Given the description of an element on the screen output the (x, y) to click on. 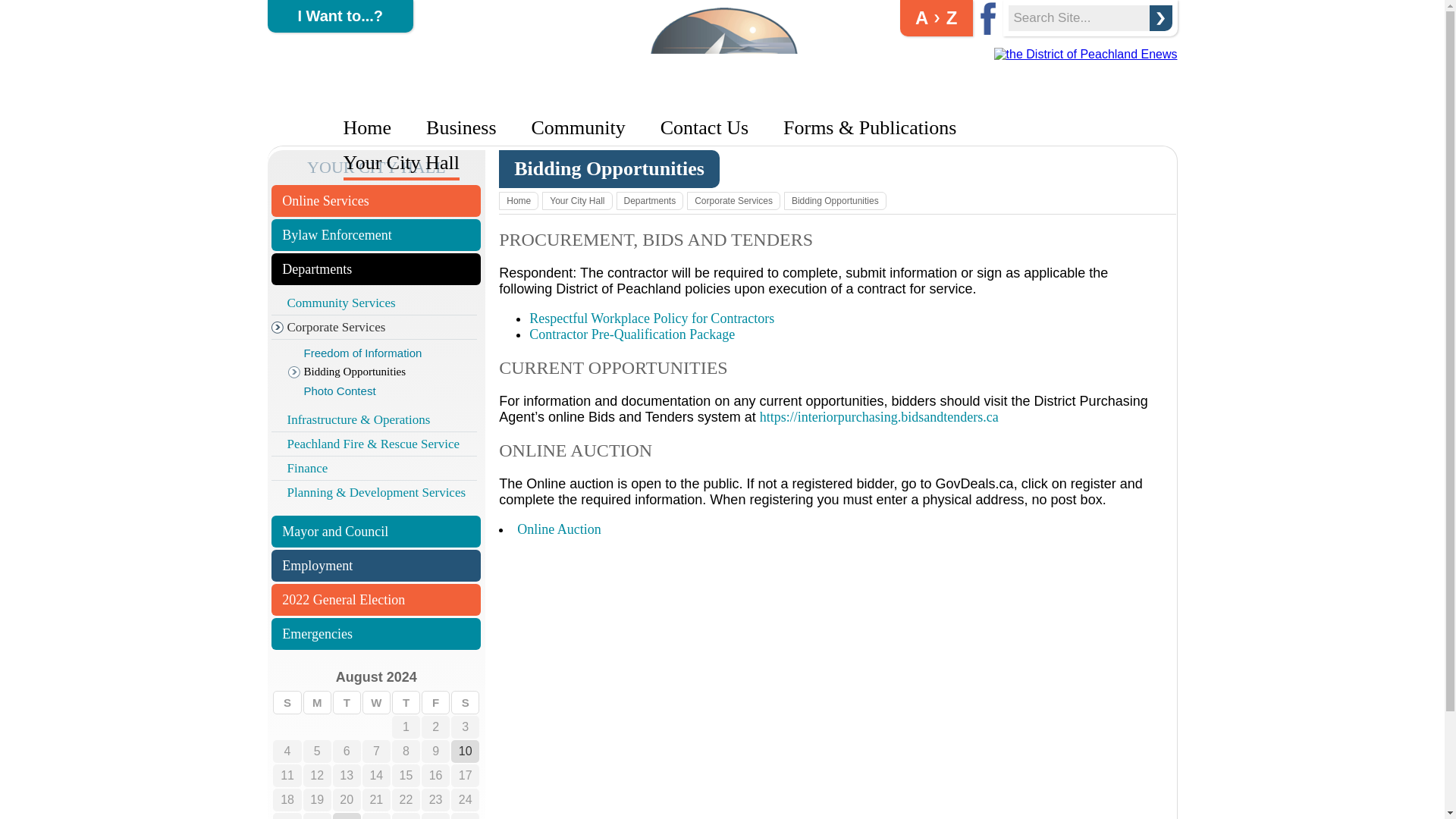
Next Month (452, 677)
Business (461, 127)
View events for month (376, 676)
Search Site... (1079, 17)
A to Z Directory Index (935, 18)
I Want to...? (339, 16)
Return To Home (723, 101)
Home (366, 127)
the District of Peachland Enews (1085, 54)
I Want to...? (339, 16)
Peachland E-News (1085, 53)
the District of Peachland (723, 56)
Previous Month (298, 677)
